Given the description of an element on the screen output the (x, y) to click on. 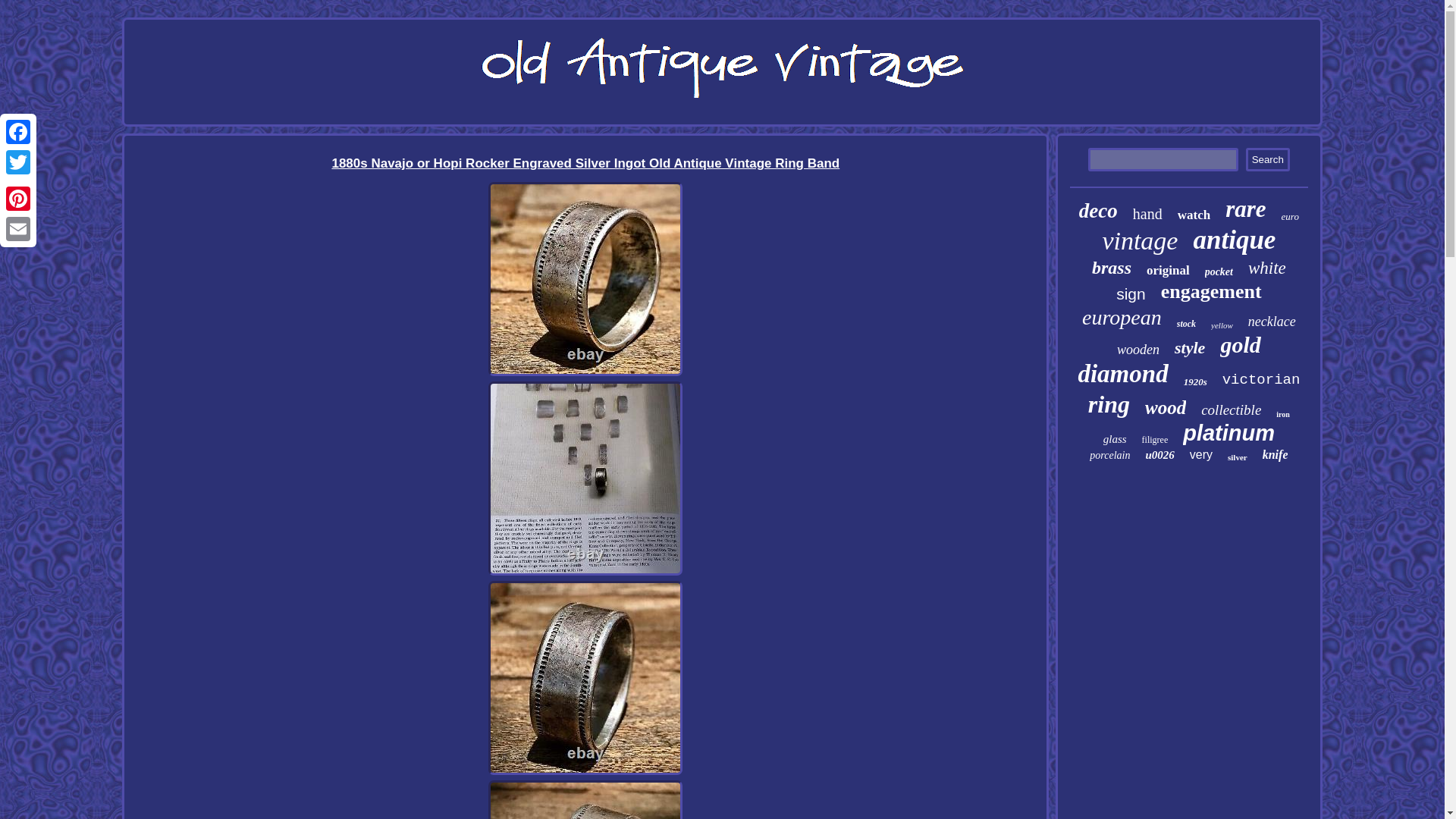
original (1168, 270)
vintage (1139, 240)
Search (1268, 159)
euro (1289, 216)
Pinterest (17, 198)
Email (17, 228)
Search (1268, 159)
rare (1245, 208)
hand (1146, 213)
deco (1098, 210)
watch (1193, 215)
antique (1233, 240)
white (1266, 268)
